Given the description of an element on the screen output the (x, y) to click on. 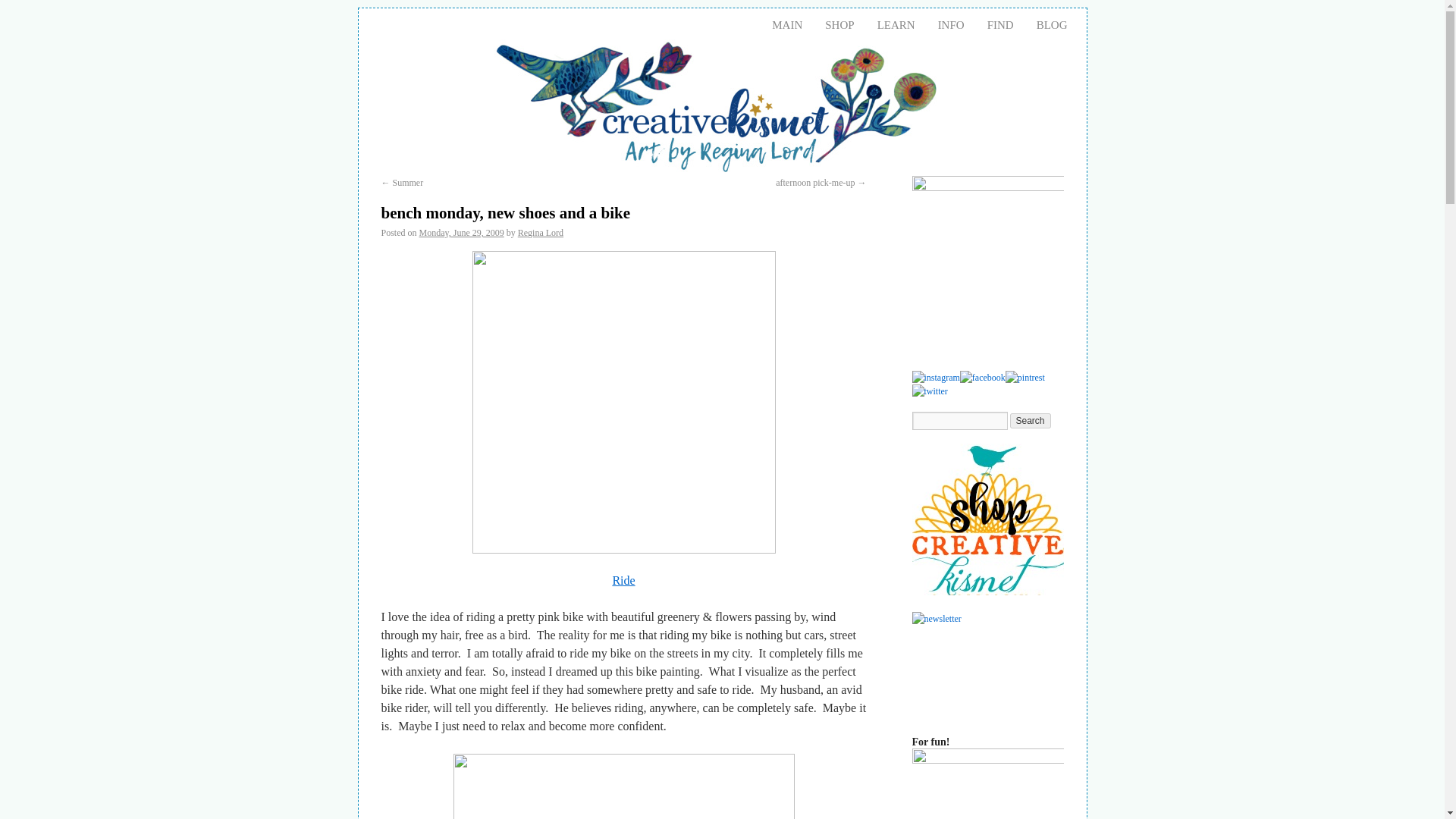
bench monday - tiled bench (623, 786)
bike Ride - ART PRINT (622, 401)
INFO (950, 24)
FIND (1000, 24)
Monday, June 29, 2009 (461, 232)
Search (1030, 420)
Ride (622, 580)
12:17 pm (461, 232)
MAIN (786, 24)
Regina Lord (540, 232)
View all posts by Regina Lord (540, 232)
SHOP (838, 24)
BLOG (1051, 24)
LEARN (896, 24)
